Given the description of an element on the screen output the (x, y) to click on. 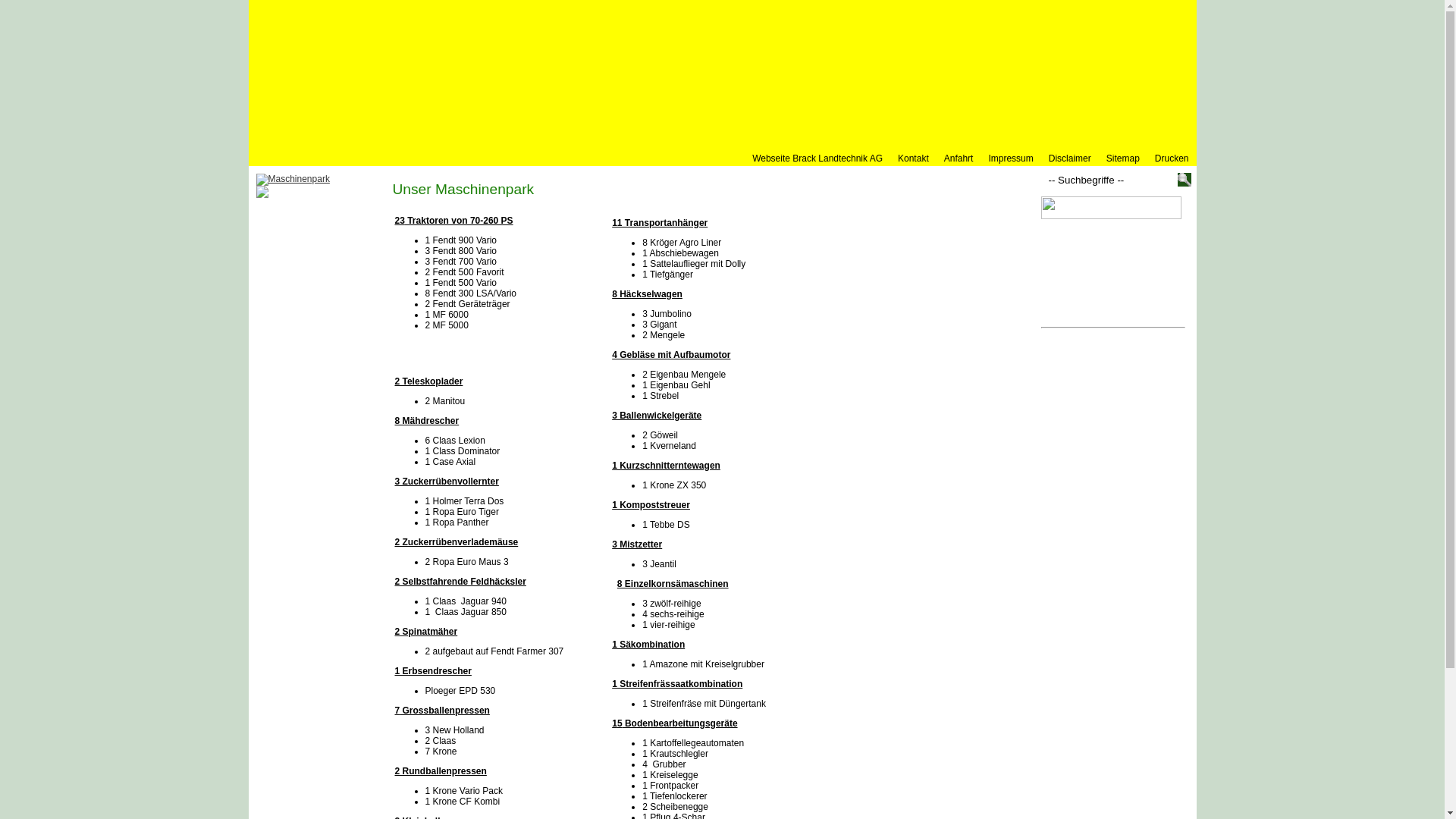
Disclaimer Element type: text (1069, 158)
Mietmaschinen Element type: text (323, 409)
Winterdienst Element type: text (323, 447)
Impressum Element type: text (1010, 158)
Futterbergung Element type: text (323, 371)
Maschinenpark Element type: text (323, 274)
Webseite Brack Landtechnik AG Element type: text (817, 158)
Webseite Brack Landtechnik AG Element type: text (323, 490)
News Element type: text (323, 293)
Videogalerie Element type: text (323, 466)
Drucken Element type: text (1171, 158)
Sitemap Element type: text (1122, 158)
Team Element type: text (323, 258)
Transporte Element type: text (323, 428)
Anfahrt Element type: text (958, 158)
info(at)brackag.ch Element type: text (1104, 313)
Erntearbeiten Element type: text (323, 390)
Kontakt Element type: text (913, 158)
Home Element type: text (323, 206)
Bodenbearbeitung
Aussaat Element type: text (323, 317)
Geschichte Element type: text (323, 241)
